Given the description of an element on the screen output the (x, y) to click on. 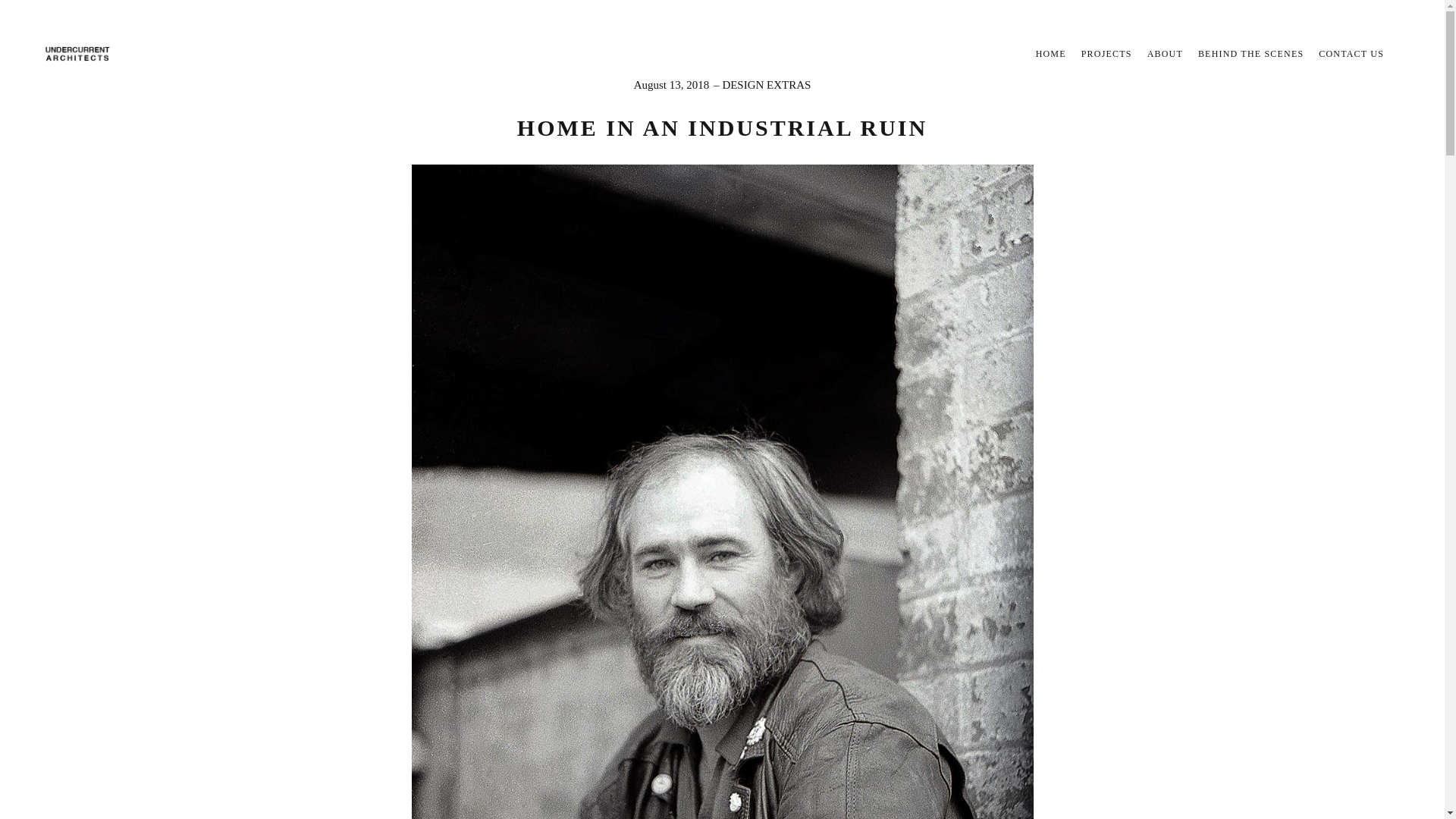
CONTACT US (1351, 53)
ABOUT (1165, 53)
PROJECTS (1107, 53)
HOME (1050, 53)
UNDERCURRENT ARCHITECTS (77, 53)
DESIGN EXTRAS (766, 84)
BEHIND THE SCENES (1251, 53)
